Given the description of an element on the screen output the (x, y) to click on. 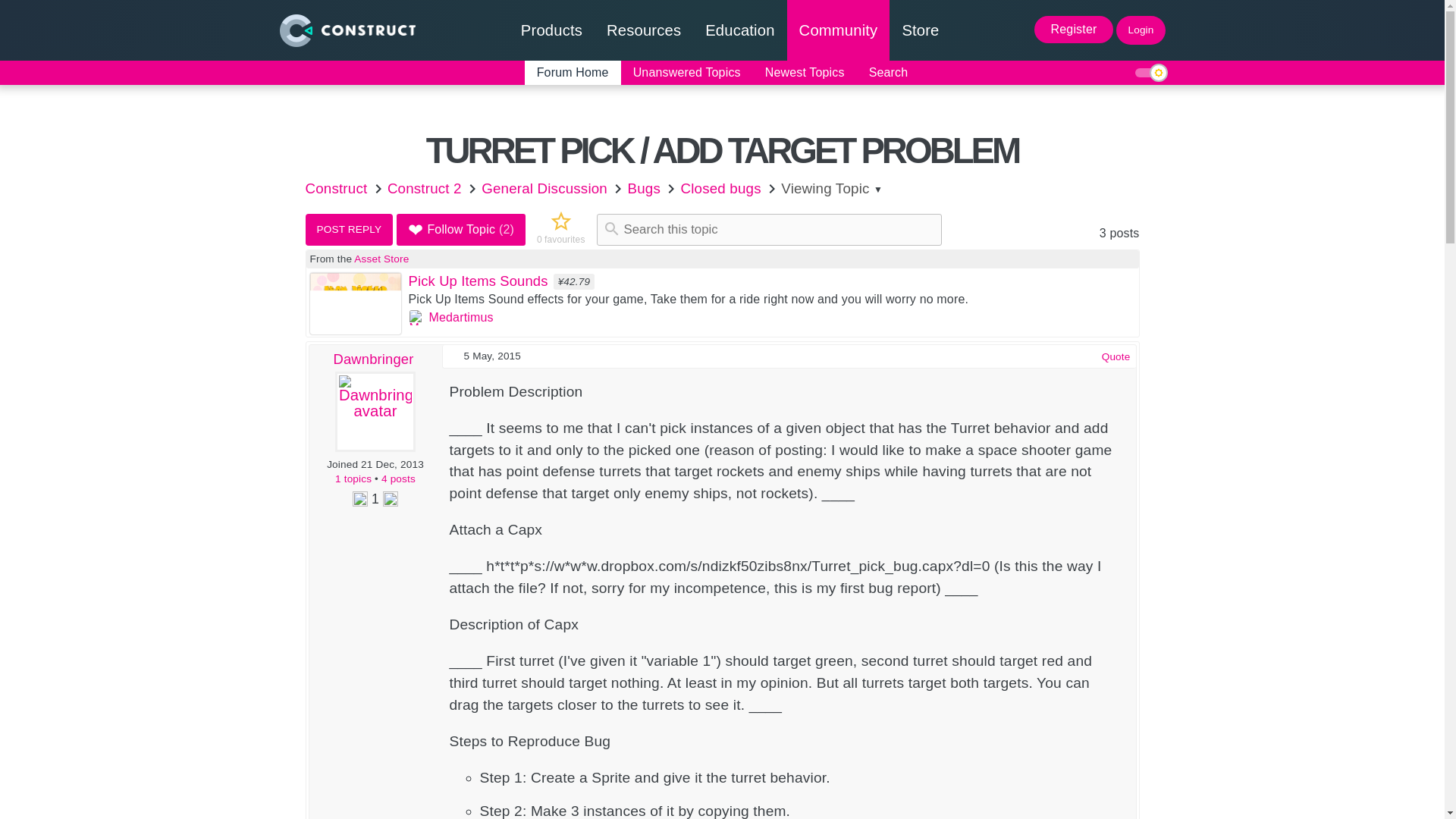
Construct homepage (346, 30)
Education (739, 30)
Products (551, 30)
Tutorials and manual (643, 30)
Game maker (551, 30)
Resources (643, 30)
